Given the description of an element on the screen output the (x, y) to click on. 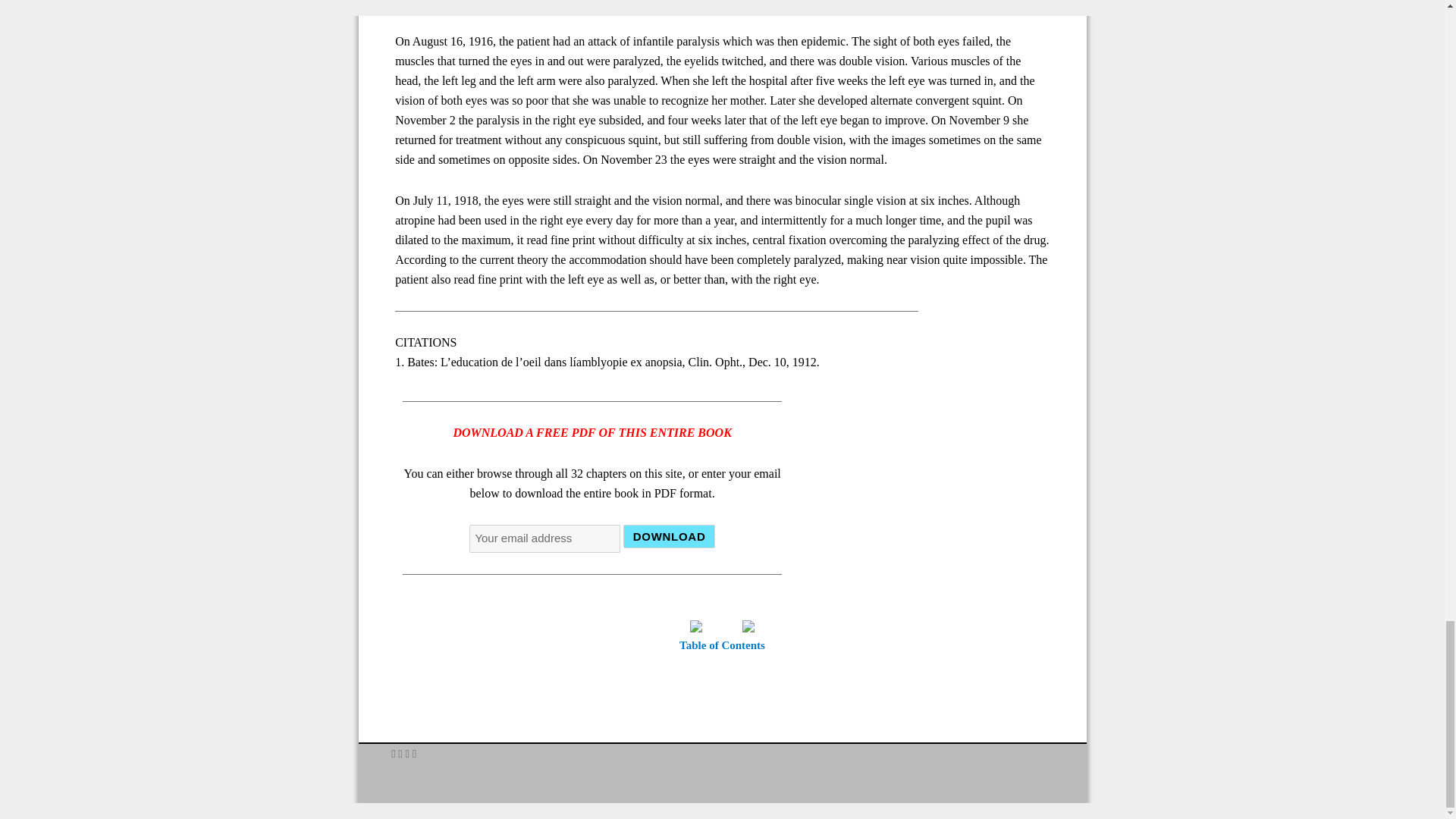
Chapter 23: Floating Specks: Their Cause and Cure (748, 624)
Table of Contents (722, 645)
Chapter 21: Squint and Amblyopia: Their Cause (695, 624)
Download (669, 535)
Download (669, 535)
